Given the description of an element on the screen output the (x, y) to click on. 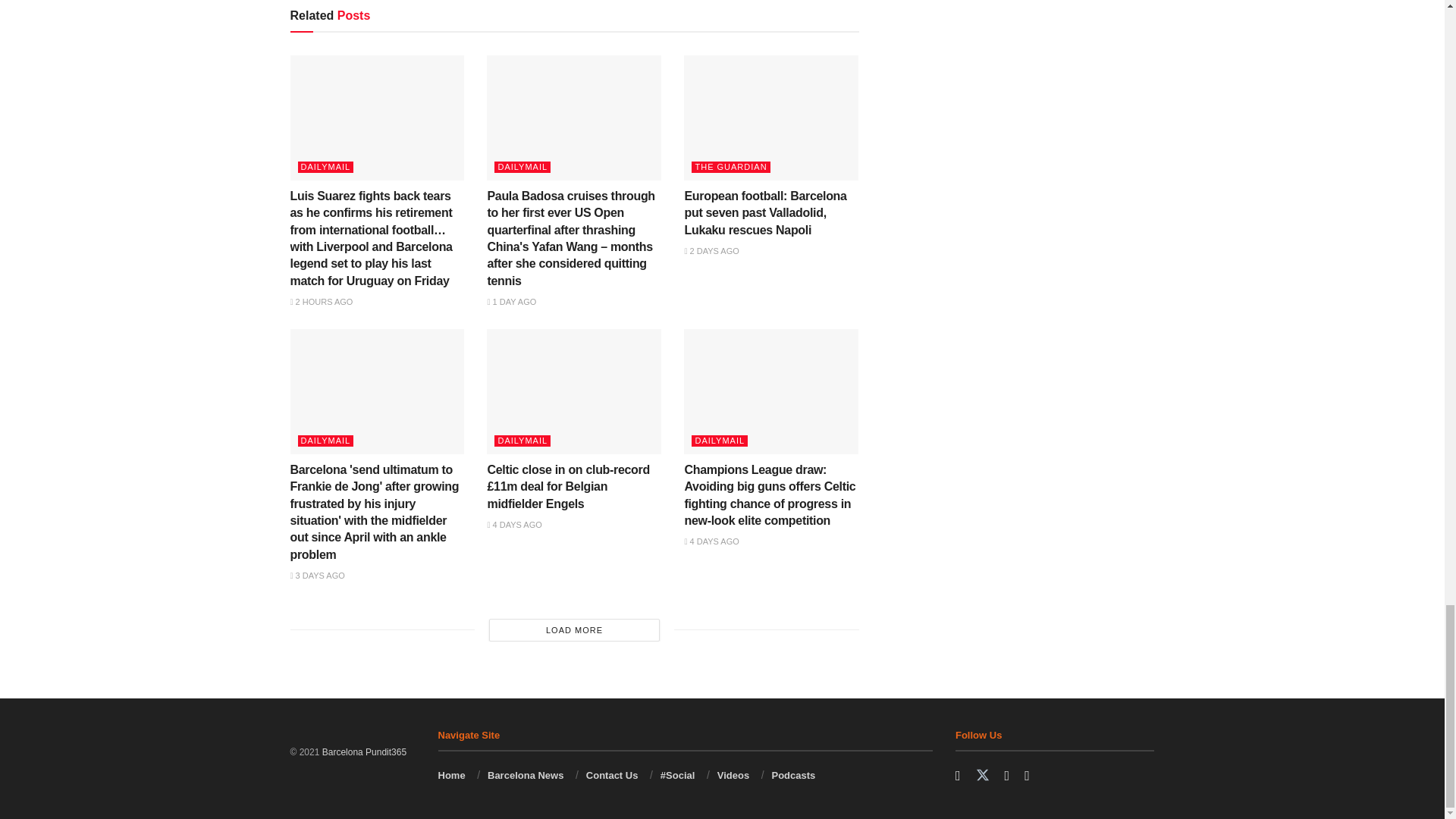
2 HOURS AGO (320, 301)
DAILYMAIL (522, 166)
1 DAY AGO (510, 301)
DAILYMAIL (325, 166)
Barcelona News (363, 751)
